Given the description of an element on the screen output the (x, y) to click on. 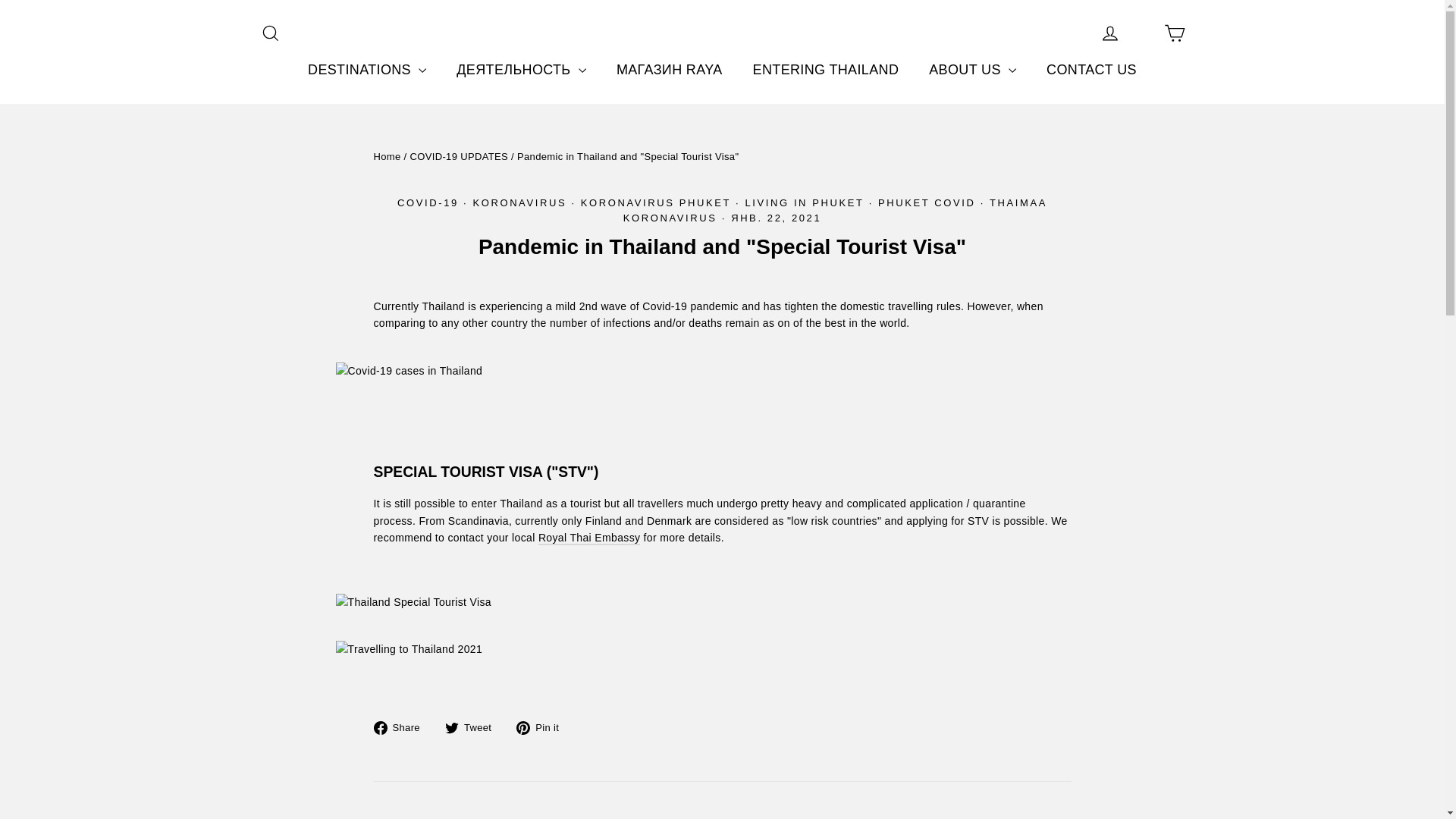
Back to the frontpage (386, 156)
Tweet on Twitter (473, 727)
Pin on Pinterest (543, 727)
Global Thai Embassies (589, 538)
Cart (1173, 33)
DESTINATIONS (366, 69)
Share on Facebook (401, 727)
Log in (1109, 33)
Search (269, 33)
